Given the description of an element on the screen output the (x, y) to click on. 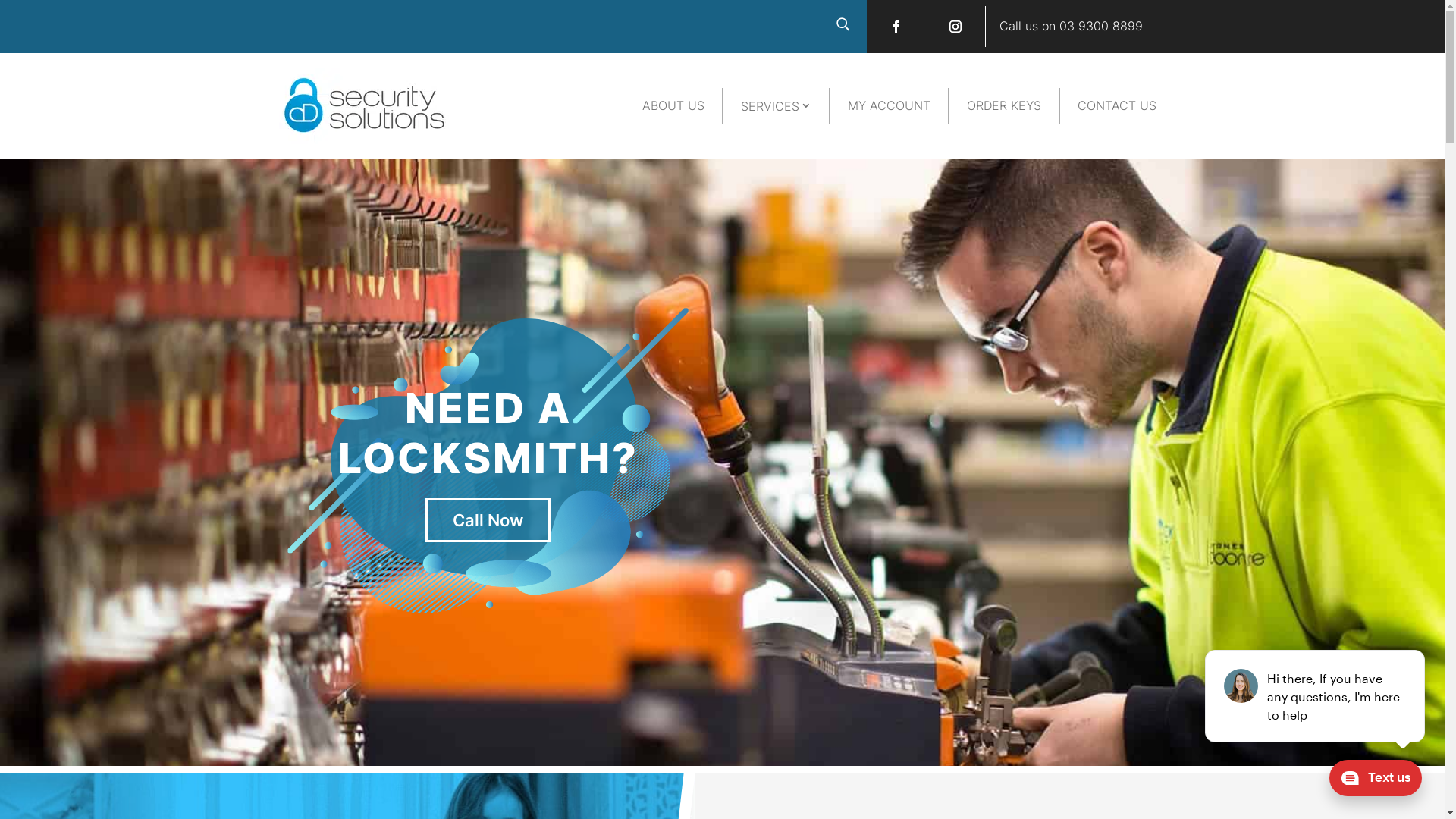
Call us on 03 9300 8899 Element type: text (1070, 25)
Follow on Instagram Element type: hover (955, 26)
Follow on Facebook Element type: hover (896, 26)
CONTACT US Element type: text (1116, 105)
Search Element type: text (25, 14)
Call Now Element type: text (487, 519)
SERVICES Element type: text (775, 105)
ABOUT US Element type: text (672, 105)
podium webchat widget prompt Element type: hover (1315, 696)
ORDER KEYS Element type: text (1003, 105)
MY ACCOUNT Element type: text (888, 105)
ddss-website-final-3 Element type: hover (364, 139)
